Given the description of an element on the screen output the (x, y) to click on. 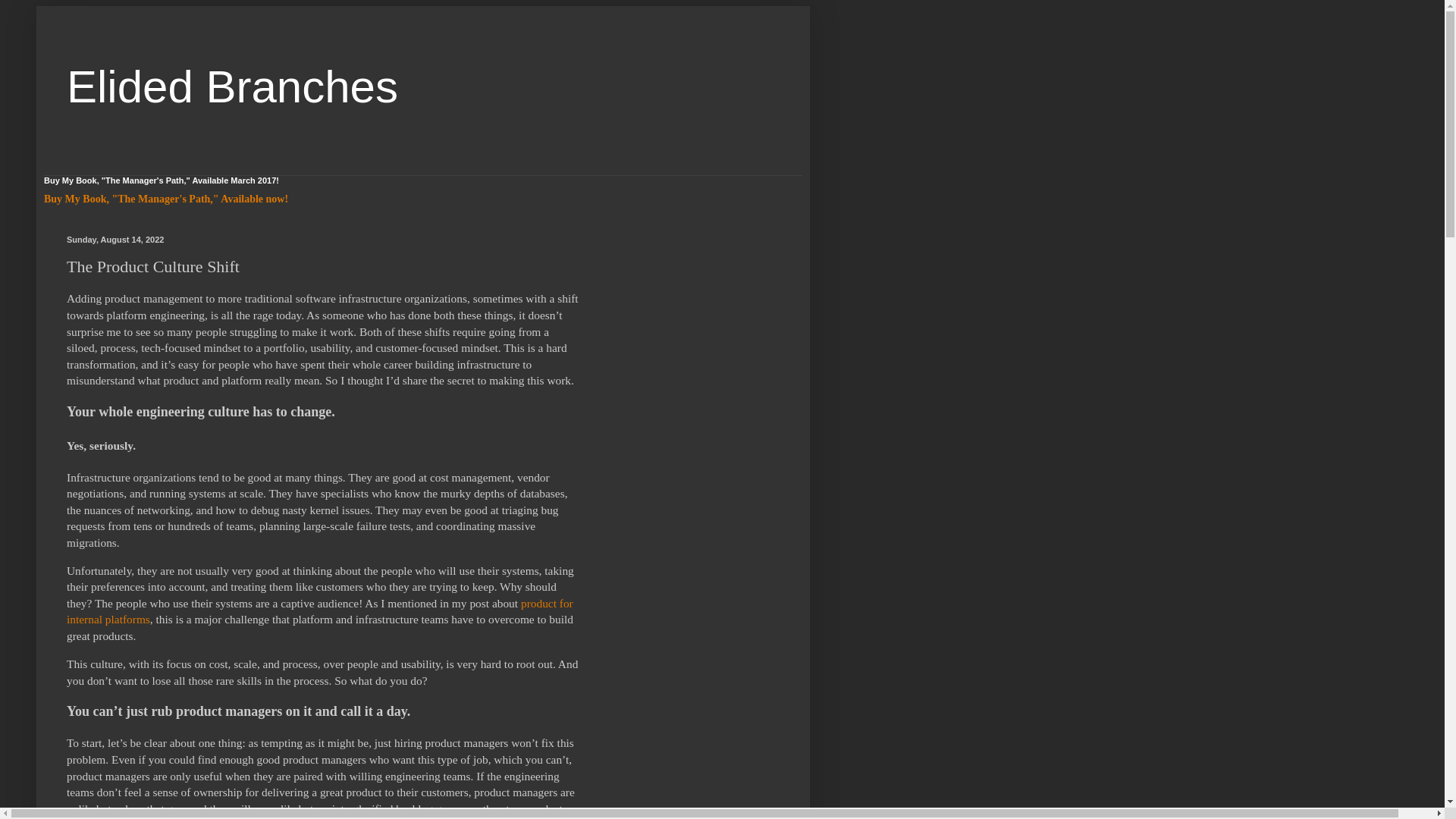
Elided Branches (231, 86)
Buy My Book, "The Manager's Path," Available now! (165, 198)
product for internal platforms (319, 611)
